Given the description of an element on the screen output the (x, y) to click on. 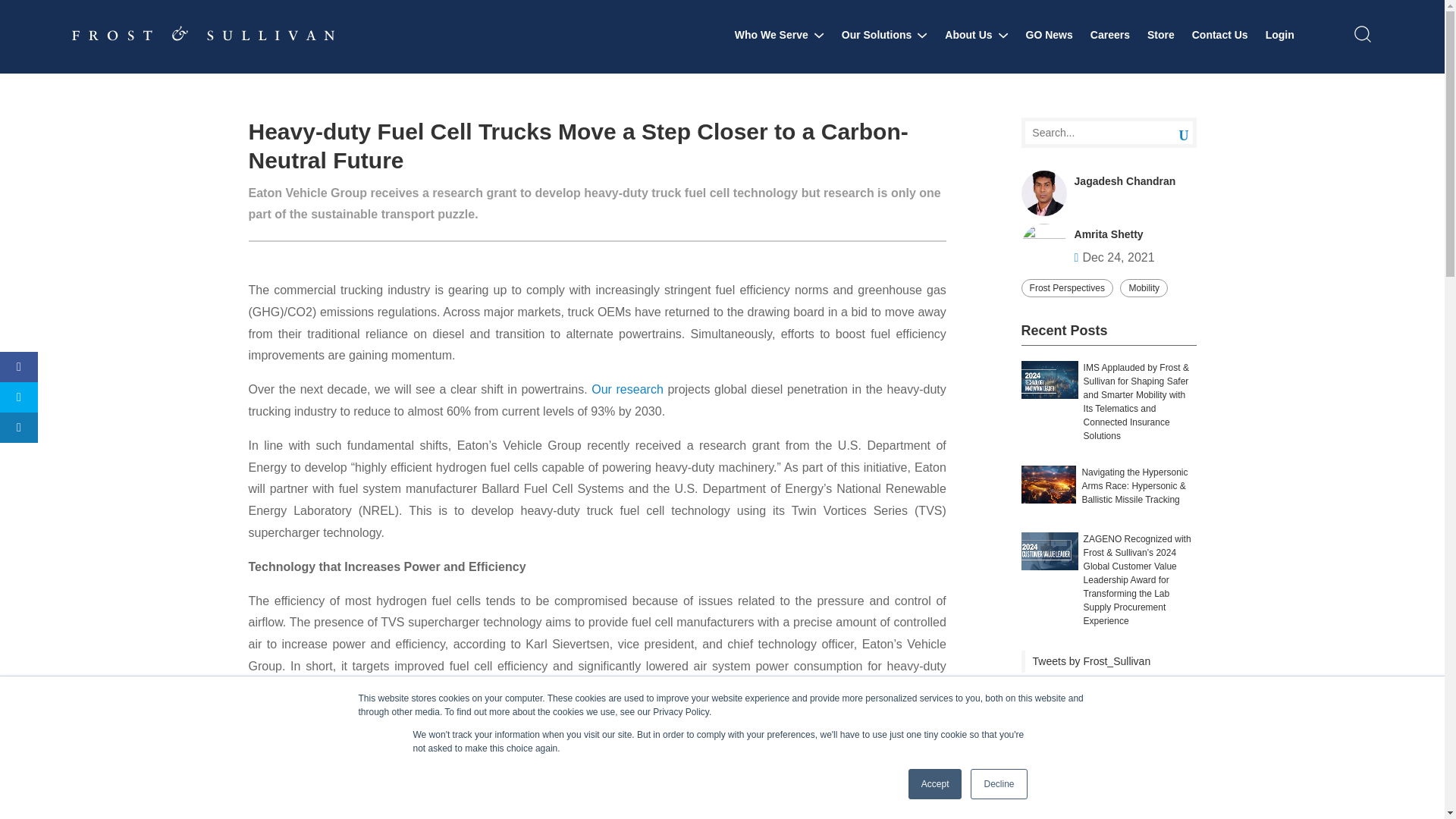
Search (1172, 132)
Who We Serve (779, 35)
Accept (935, 784)
Decline (998, 784)
